Given the description of an element on the screen output the (x, y) to click on. 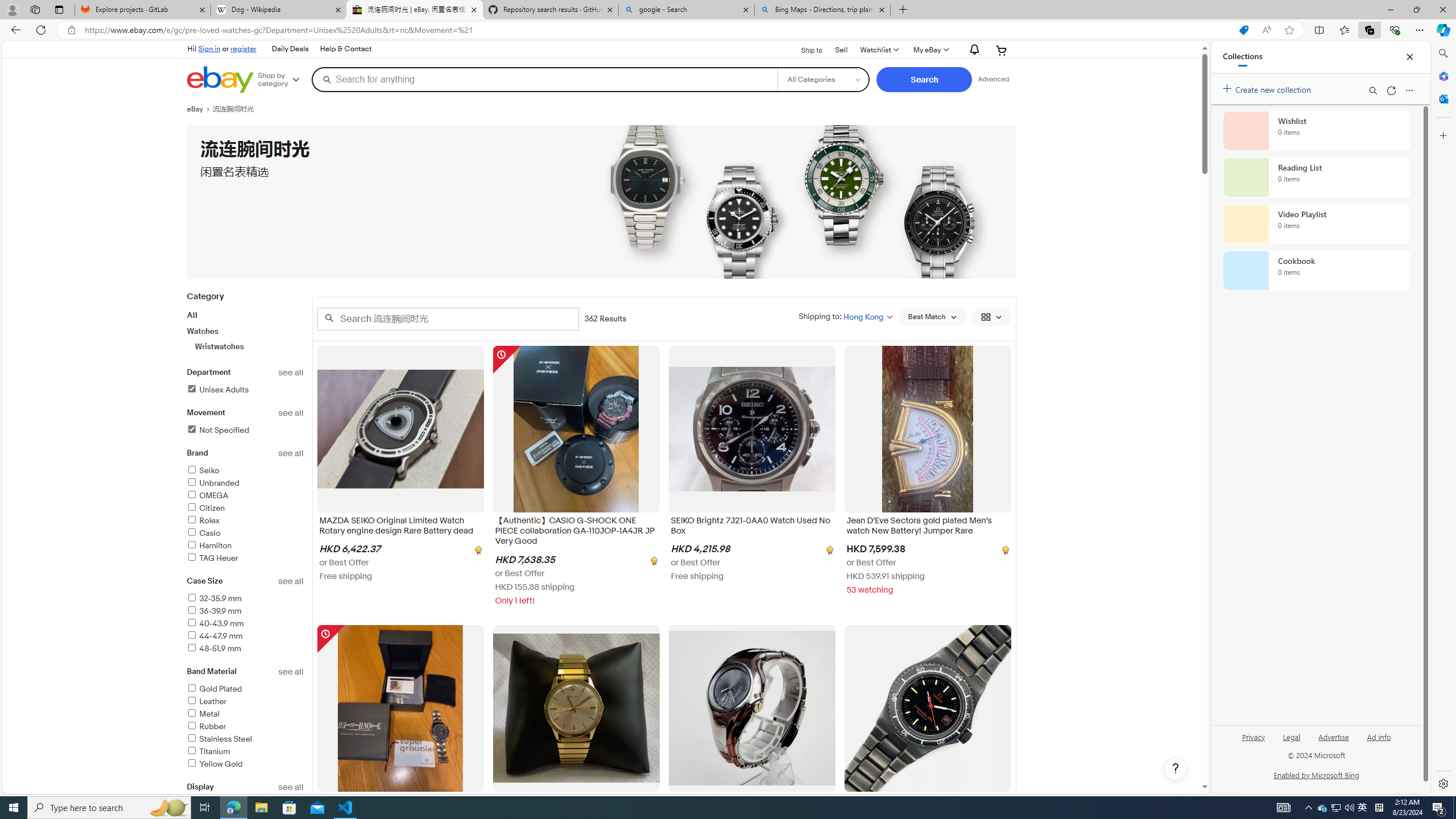
Workspaces (34, 9)
eBay Home (219, 79)
Address and search bar (658, 29)
This site has coupons! Shopping in Microsoft Edge, 20 (1243, 29)
Not Specified Filter Applied (217, 429)
